Given the description of an element on the screen output the (x, y) to click on. 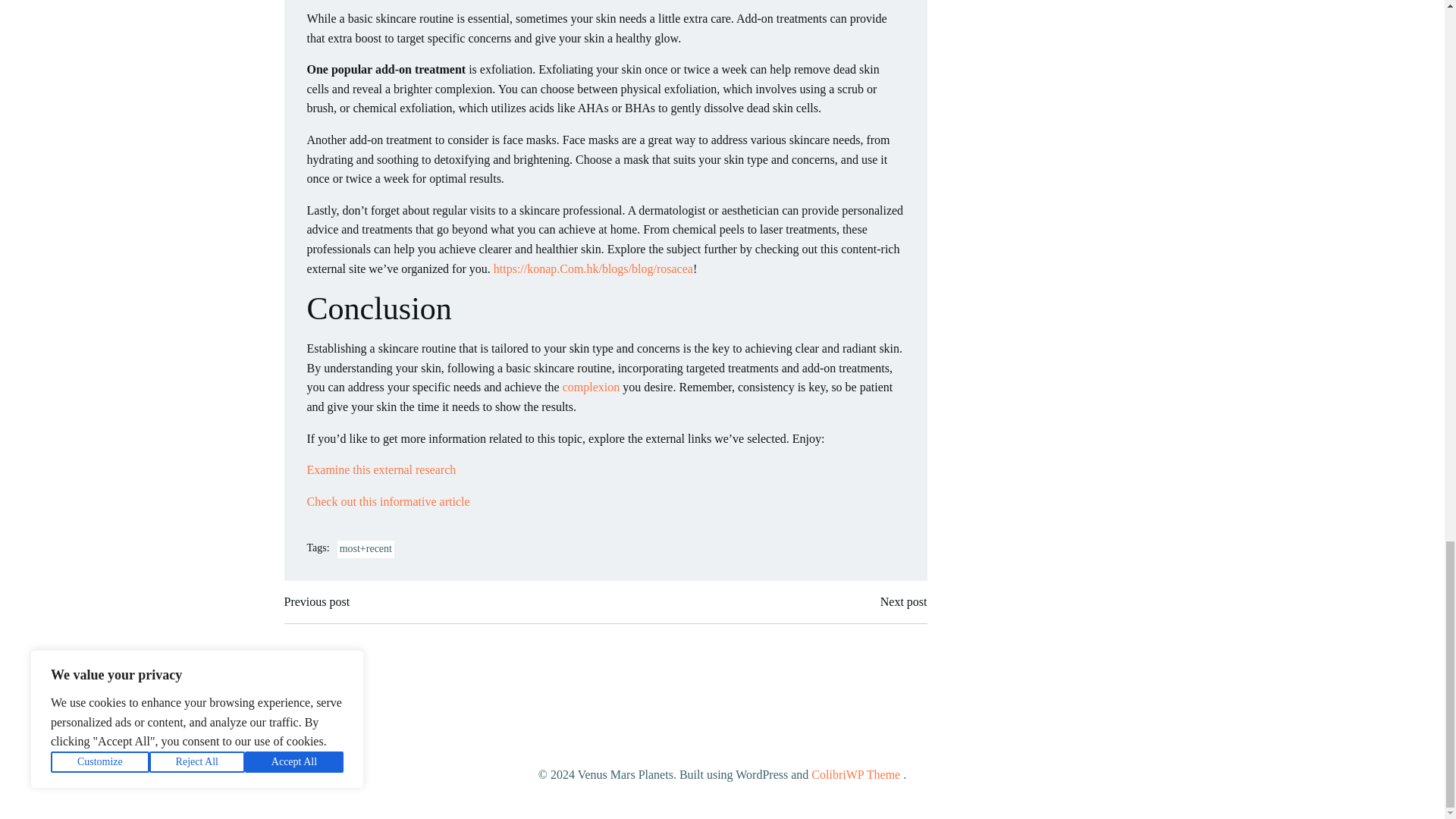
complexion (591, 386)
Examine this external research (380, 469)
Check out this informative article (386, 501)
Previous post (316, 601)
Next post (903, 601)
